Given the description of an element on the screen output the (x, y) to click on. 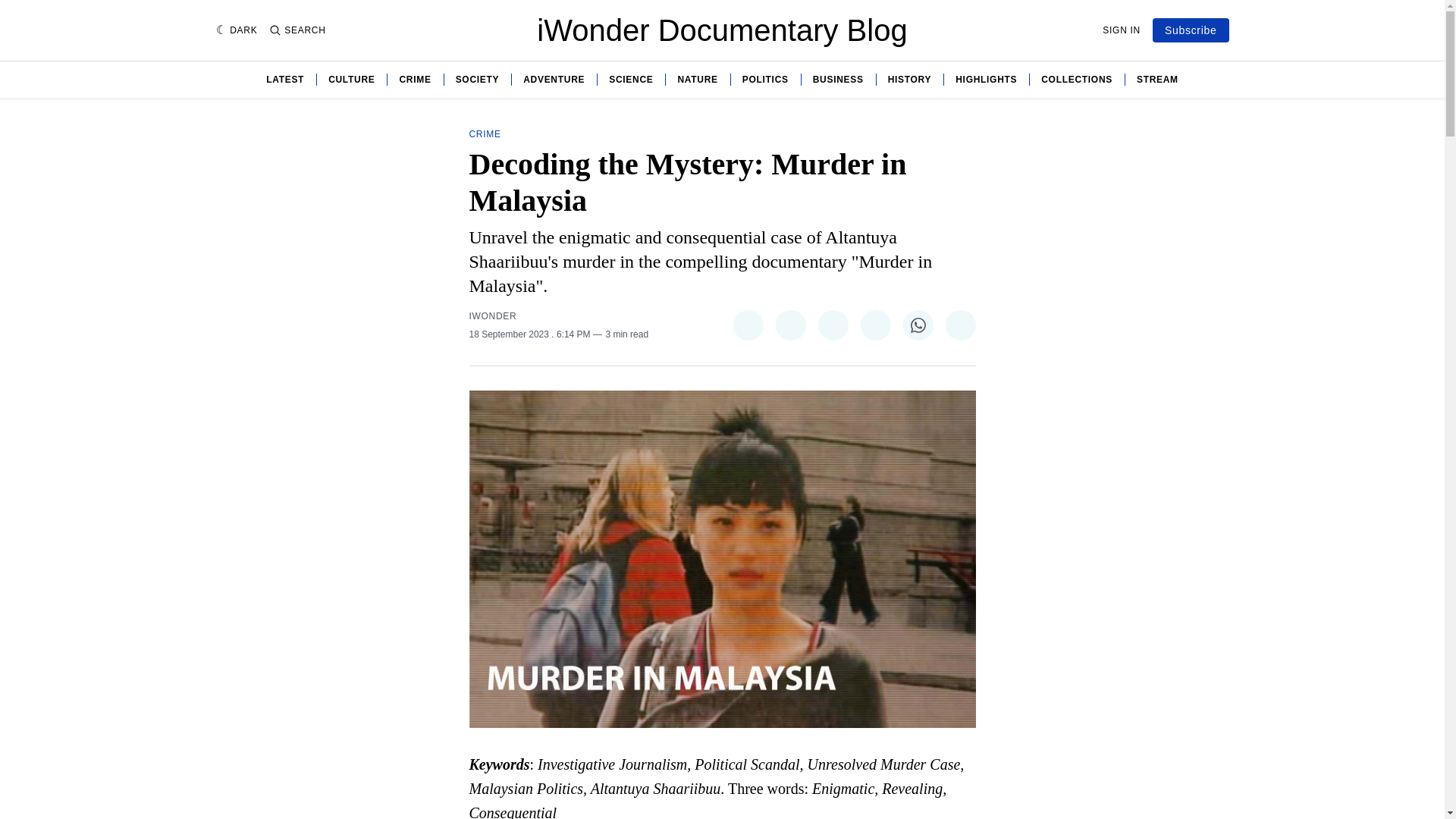
SOCIETY (477, 79)
Subscribe (1190, 30)
ADVENTURE (553, 79)
DARK (236, 29)
SEARCH (296, 30)
Share on Twitter (747, 325)
IWONDER (492, 316)
iWonder Documentary Blog (722, 29)
CRIME (414, 79)
CULTURE (351, 79)
BUSINESS (837, 79)
CRIME (484, 133)
NATURE (697, 79)
SIGN IN (1121, 30)
Share on Facebook (789, 325)
